Given the description of an element on the screen output the (x, y) to click on. 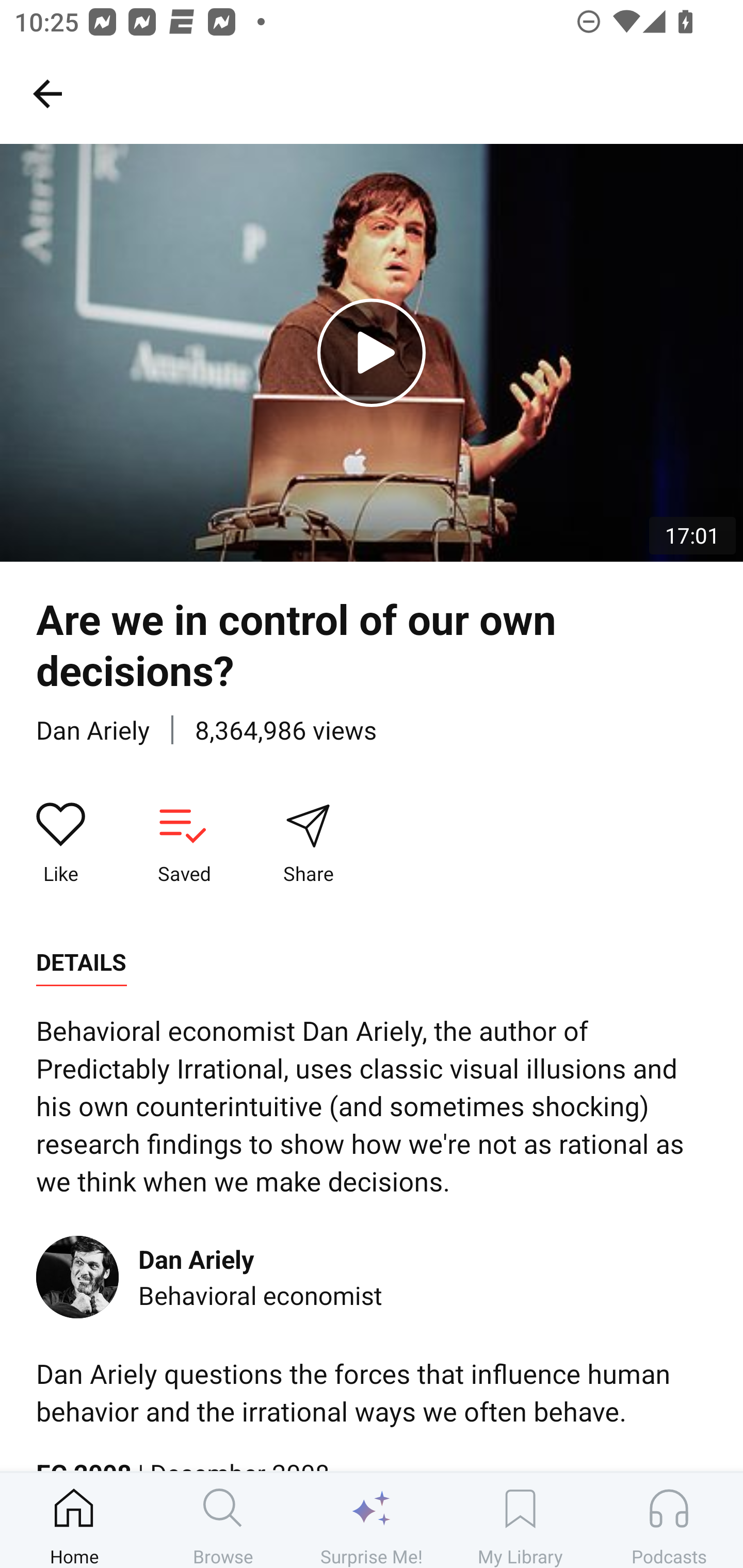
Home, back (47, 92)
Like (60, 843)
Saved (183, 843)
Share (308, 843)
DETAILS (80, 962)
Home (74, 1520)
Browse (222, 1520)
Surprise Me! (371, 1520)
My Library (519, 1520)
Podcasts (668, 1520)
